Given the description of an element on the screen output the (x, y) to click on. 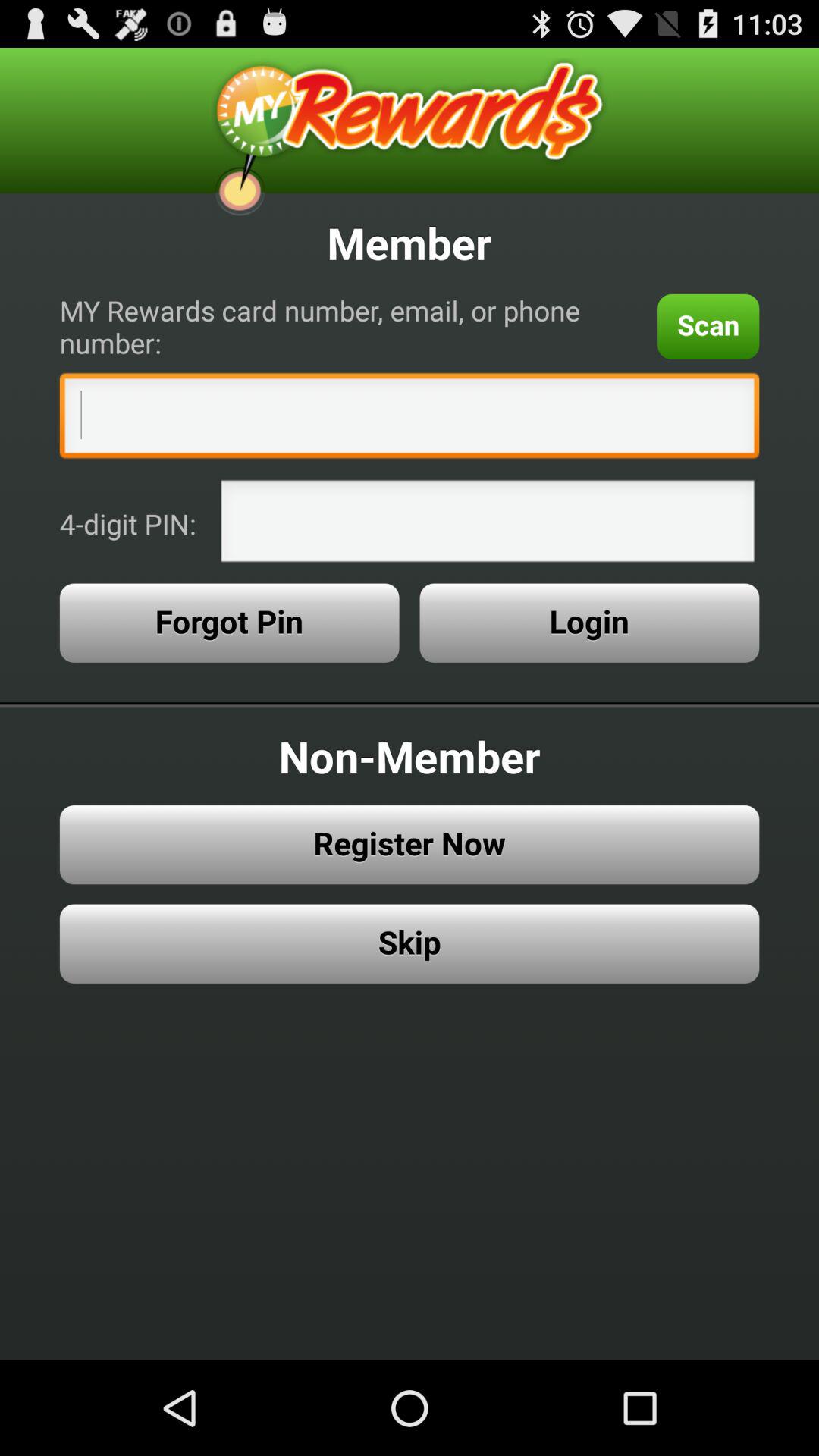
launch item above the skip icon (409, 844)
